Given the description of an element on the screen output the (x, y) to click on. 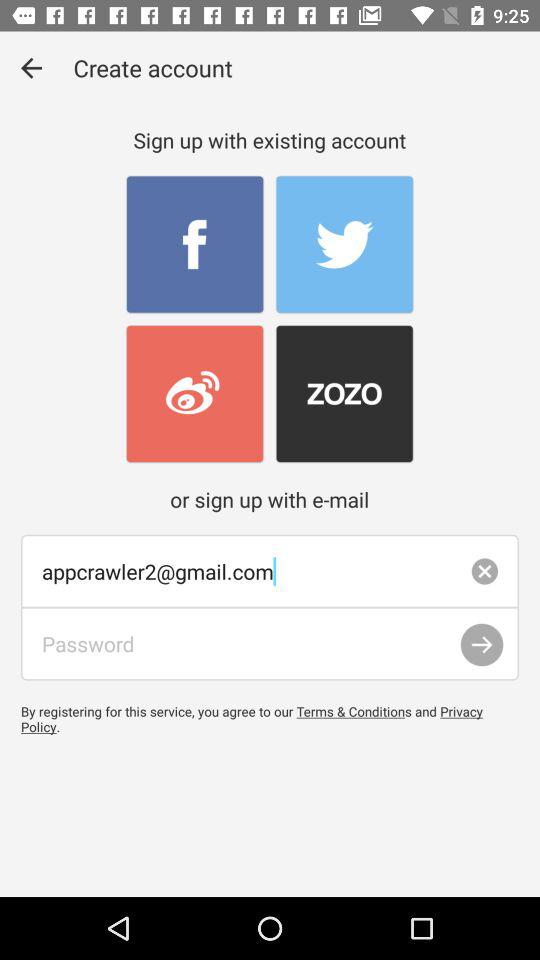
choose icon at the bottom right corner (482, 644)
